Given the description of an element on the screen output the (x, y) to click on. 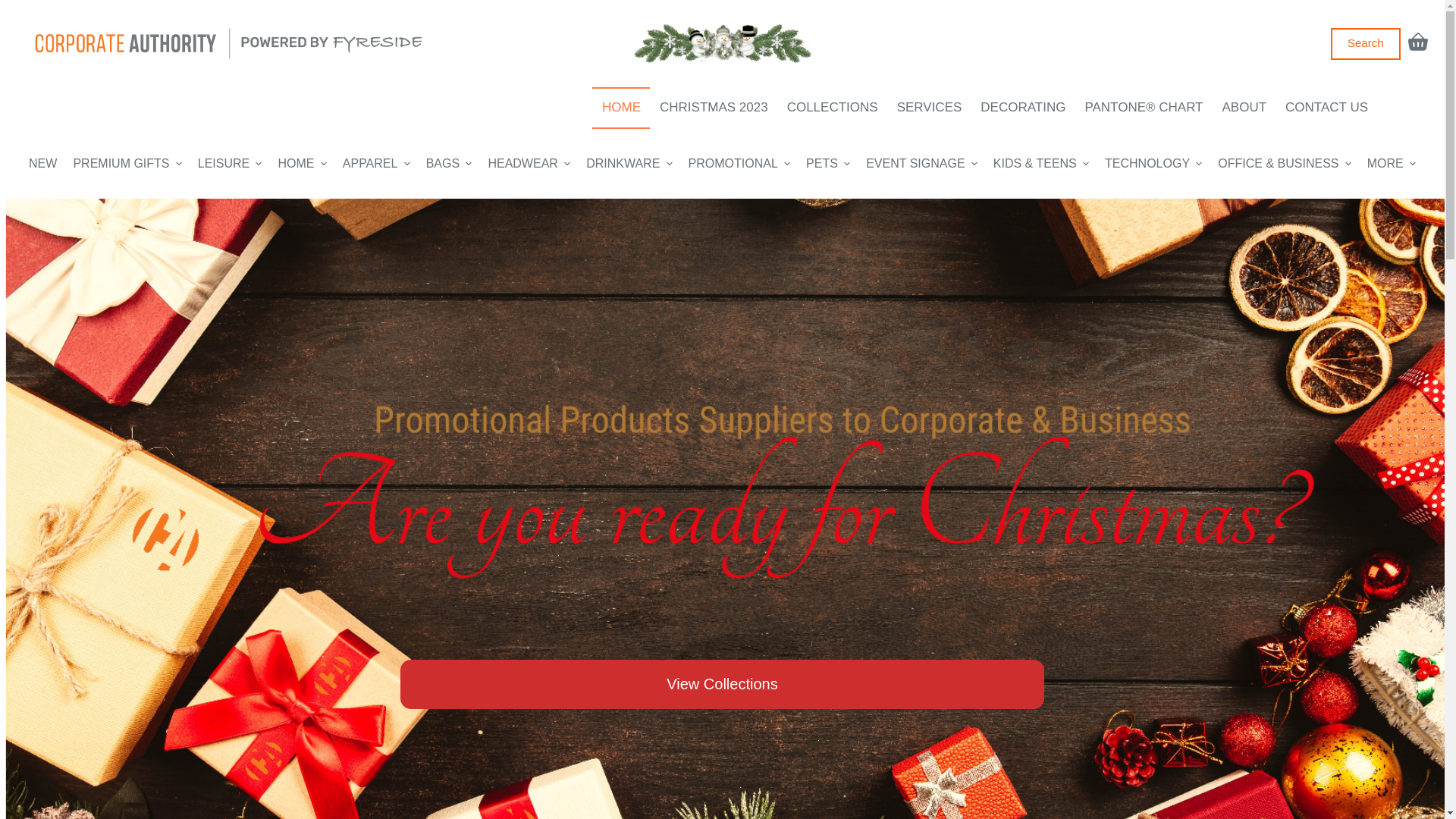
PREMIUM GIFTS Element type: text (127, 163)
Christmas 2022 Element type: hover (721, 43)
SERVICES Element type: text (929, 107)
View Collections Element type: text (722, 684)
ABOUT Element type: text (1244, 107)
HOME Element type: text (301, 163)
COLLECTIONS Element type: text (832, 107)
CHRISTMAS 2023 Element type: text (713, 107)
KIDS & TEENS Element type: text (1040, 163)
TECHNOLOGY Element type: text (1153, 163)
LEISURE Element type: text (229, 163)
HOME Element type: text (620, 107)
DECORATING Element type: text (1023, 107)
DRINKWARE Element type: text (629, 163)
OFFICE & BUSINESS Element type: text (1284, 163)
CONTACT US Element type: text (1326, 107)
Skip to content Element type: text (15, 7)
MORE Element type: text (1390, 163)
HEADWEAR Element type: text (528, 163)
EVENT SIGNAGE Element type: text (922, 163)
PROMOTIONAL Element type: text (738, 163)
APPAREL Element type: text (376, 163)
Search Element type: text (1365, 43)
PETS Element type: text (828, 163)
BAGS Element type: text (448, 163)
NEW Element type: text (42, 163)
